Given the description of an element on the screen output the (x, y) to click on. 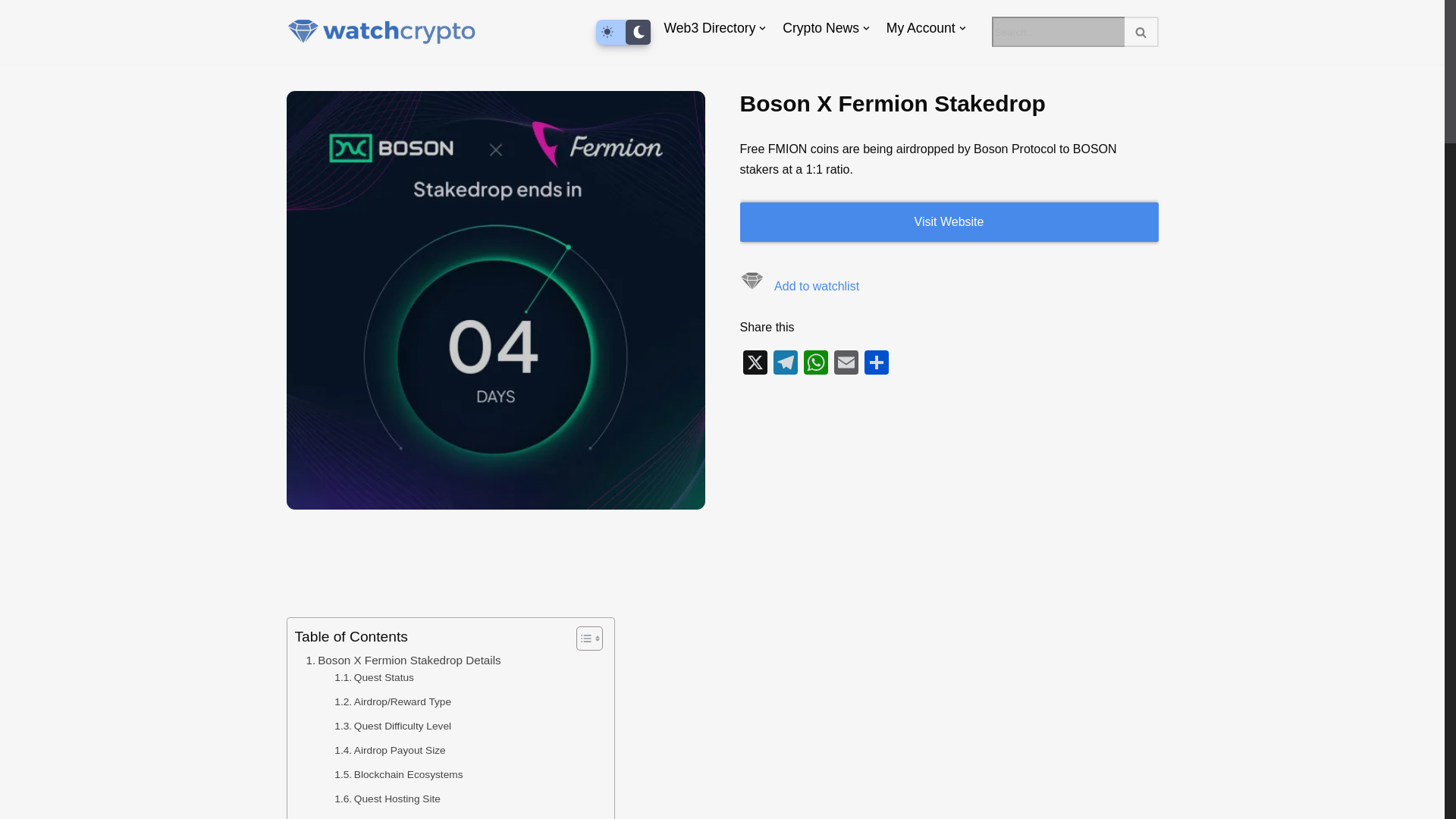
Blockchain Ecosystems (398, 774)
Email (846, 364)
Boson X Fermion Stakedrop Details (402, 660)
Snapshot Date (378, 816)
Skip to content (11, 31)
Airdrop Payout Size (389, 750)
X (754, 364)
Quest Difficulty Level (392, 726)
Quest Status (373, 677)
Web3 Directory (709, 27)
Quest Hosting Site (387, 799)
Telegram (785, 364)
WhatsApp (815, 364)
